Given the description of an element on the screen output the (x, y) to click on. 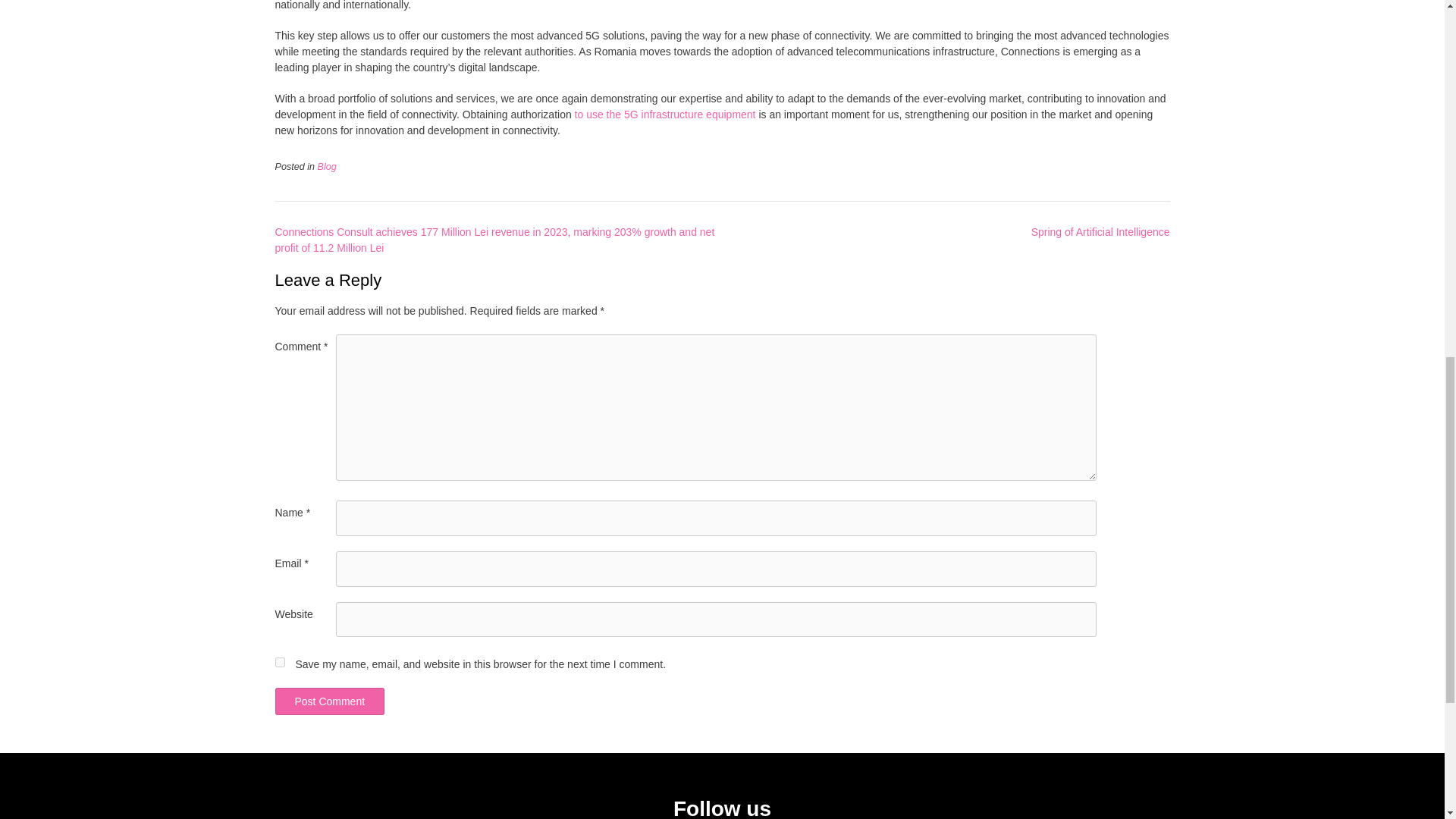
Post Comment (329, 700)
yes (279, 662)
to use the 5G infrastructure equipment (665, 114)
Blog (326, 166)
Spring of Artificial Intelligence (1100, 232)
Post Comment (329, 700)
